Given the description of an element on the screen output the (x, y) to click on. 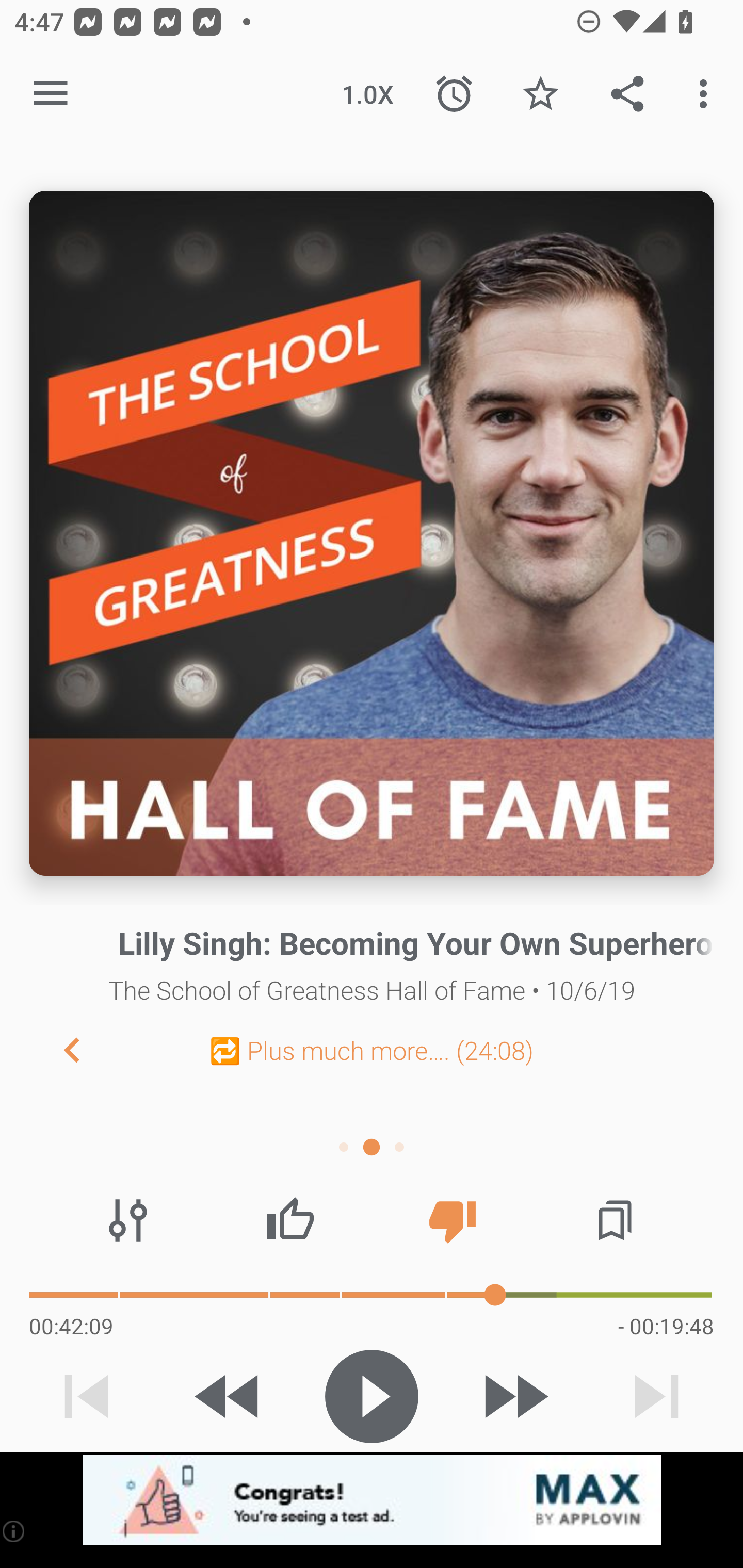
Open navigation sidebar (50, 93)
1.0X (366, 93)
Sleep Timer (453, 93)
Favorite (540, 93)
Share (626, 93)
More options (706, 93)
Episode description (371, 533)
Previous Chapter (56, 1049)
🔁 Plus much more…. (24:08) (371, 1050)
Audio effects (127, 1220)
Thumbs up (290, 1220)
Thumbs down (452, 1220)
Chapters / Bookmarks (614, 1220)
- 00:19:48 (666, 1325)
Previous track (86, 1395)
Skip 15s backward (228, 1395)
Play / Pause (371, 1395)
Skip 30s forward (513, 1395)
Next track (656, 1395)
app-monetization (371, 1500)
(i) (14, 1531)
